Given the description of an element on the screen output the (x, y) to click on. 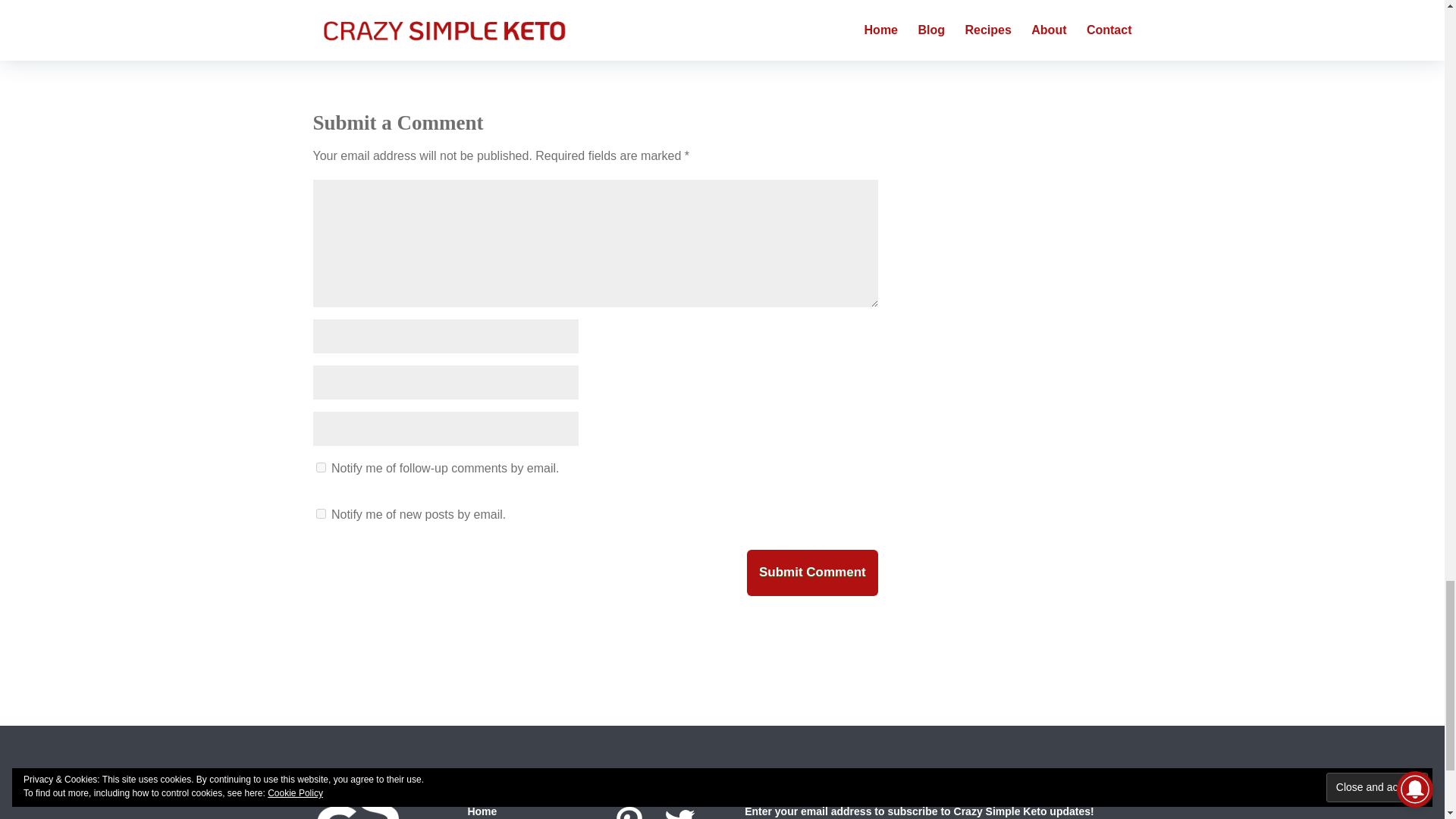
Submit Comment (811, 572)
subscribe (319, 513)
subscribe (319, 467)
